Given the description of an element on the screen output the (x, y) to click on. 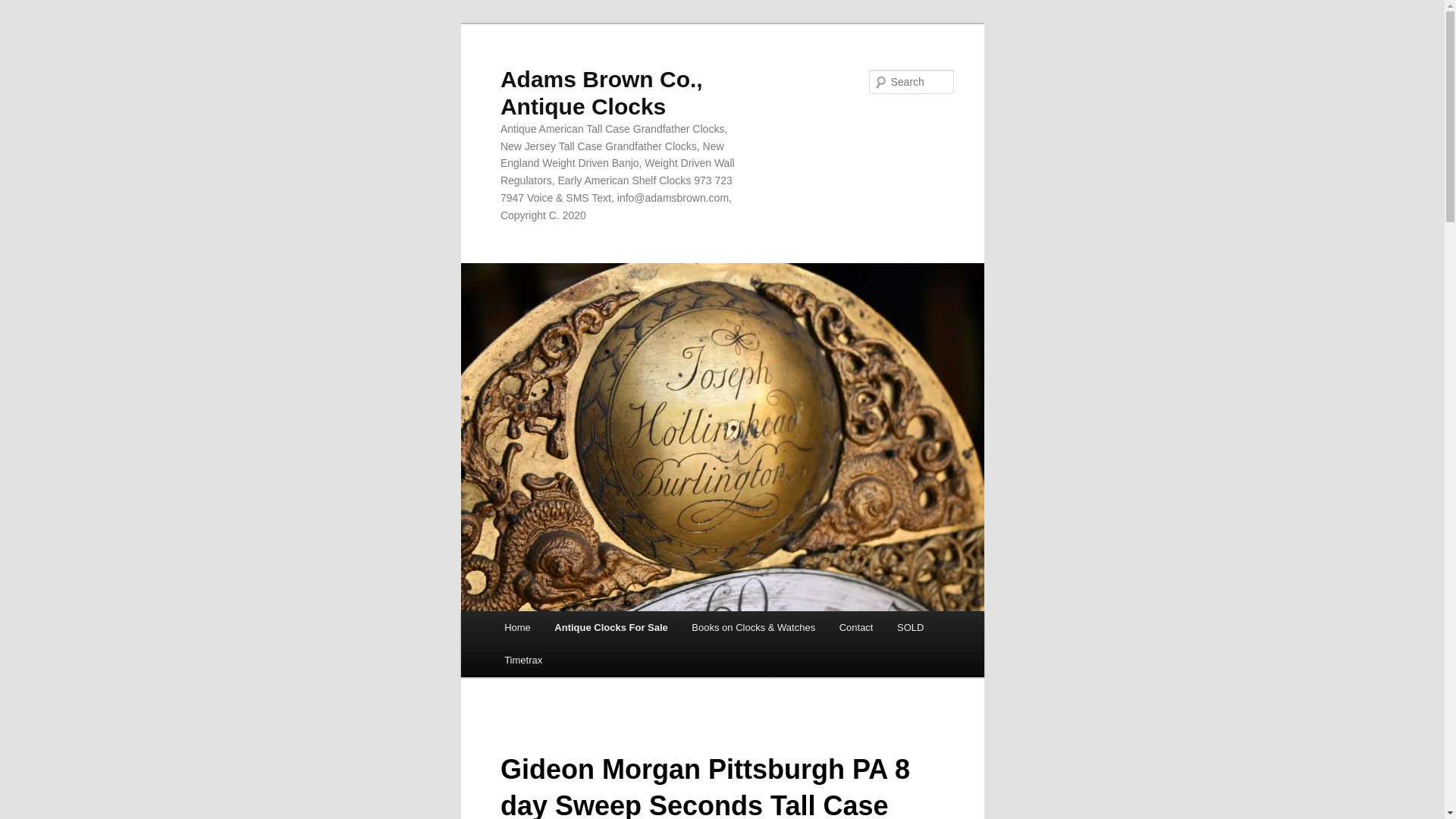
Search (24, 8)
Antique Clocks For Sale (611, 626)
Home (516, 626)
Adams Brown Co., Antique Clocks (601, 92)
